Given the description of an element on the screen output the (x, y) to click on. 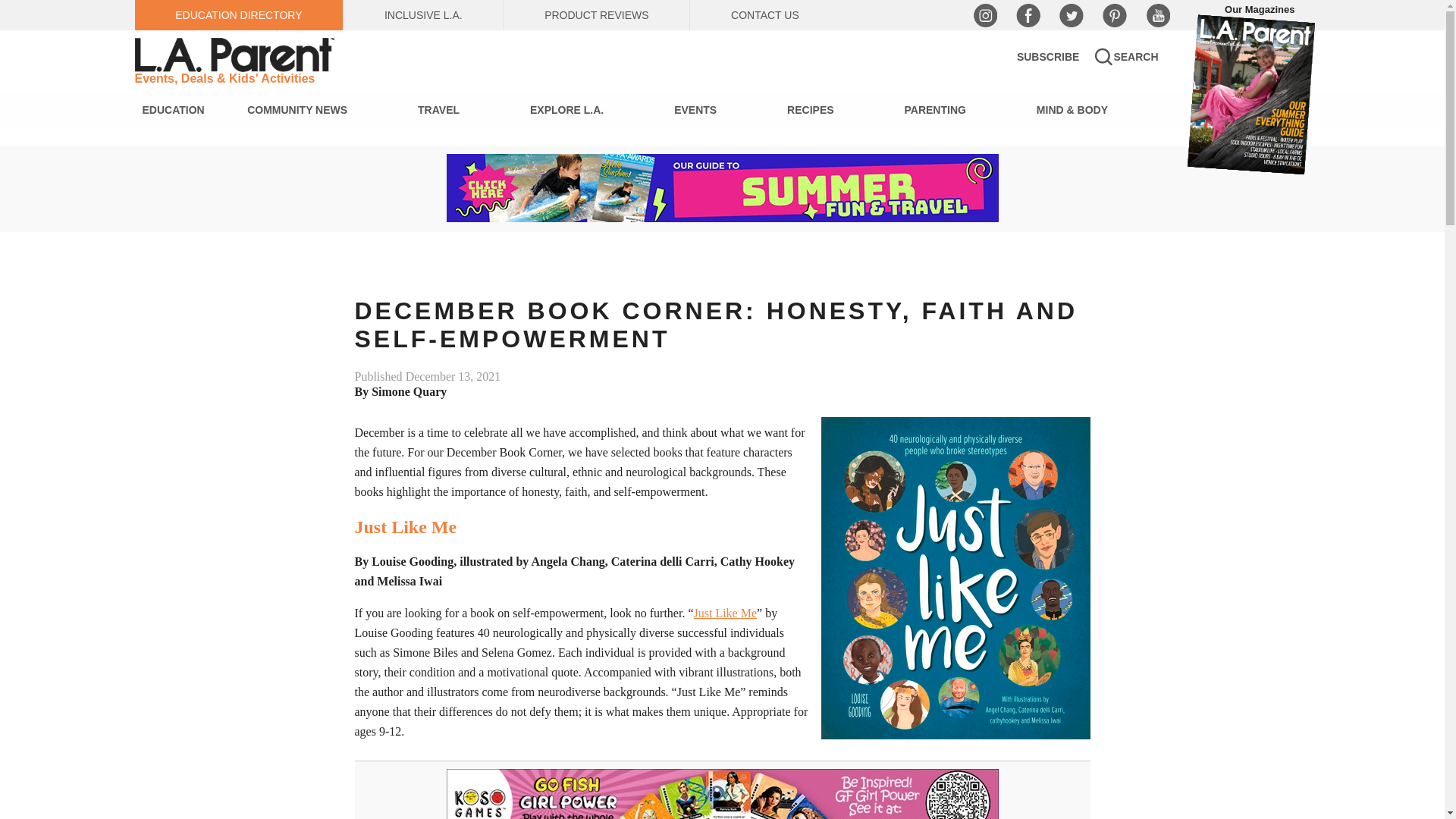
CONTACT US (765, 15)
Facebook (1028, 15)
Instagram (983, 15)
Twitter (1070, 15)
PRODUCT REVIEWS (595, 15)
Pinterest (1114, 15)
INCLUSIVE L.A. (422, 15)
SUBSCRIBE (1047, 56)
YouTube (1156, 15)
L.A. Parent (237, 54)
